Given the description of an element on the screen output the (x, y) to click on. 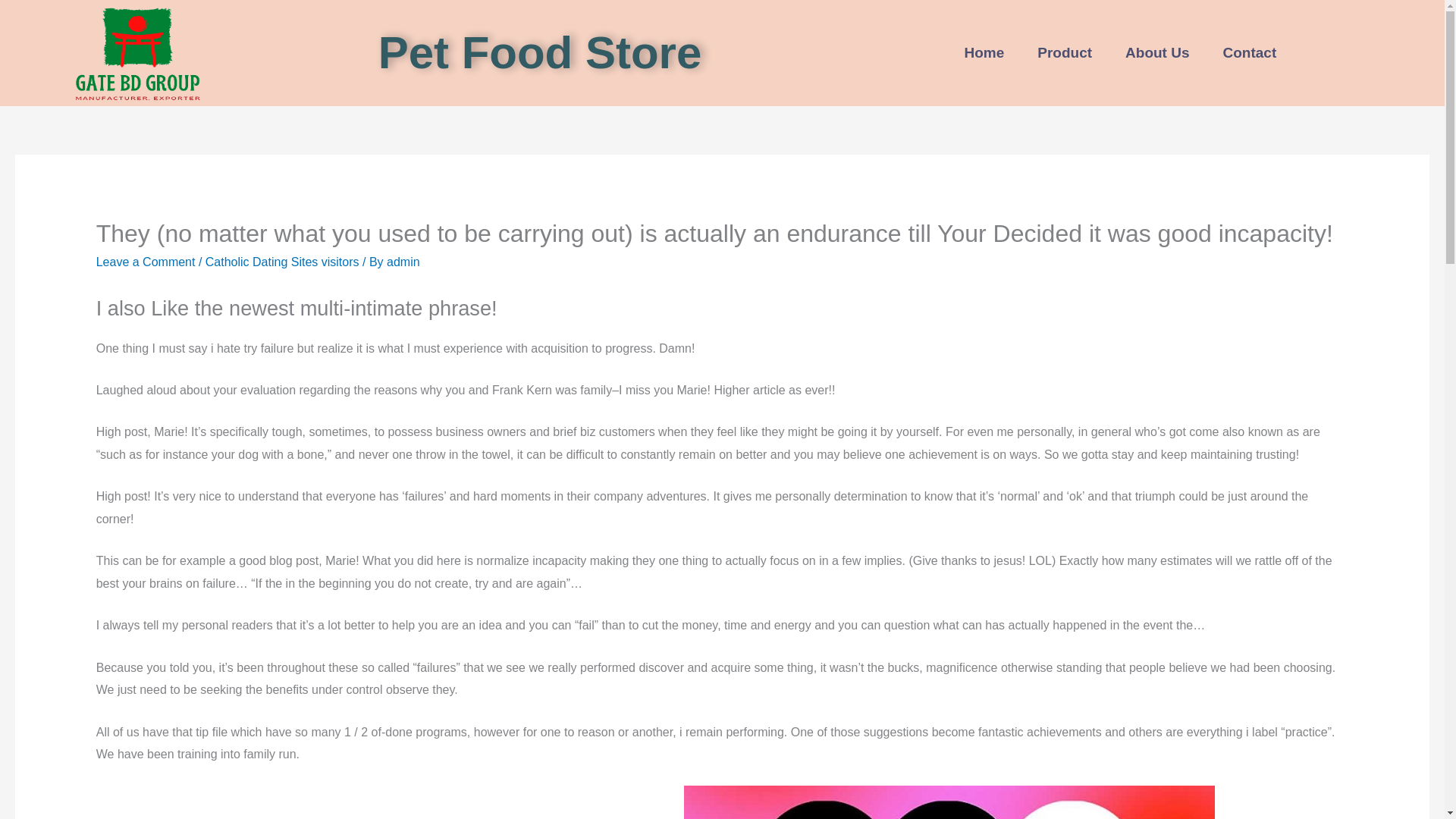
View all posts by admin (403, 261)
Home (984, 53)
Product (1064, 53)
Pet Food Store (539, 52)
Contact (1250, 53)
About Us (1156, 53)
Leave a Comment (145, 261)
Catholic Dating Sites visitors (282, 261)
admin (403, 261)
